Given the description of an element on the screen output the (x, y) to click on. 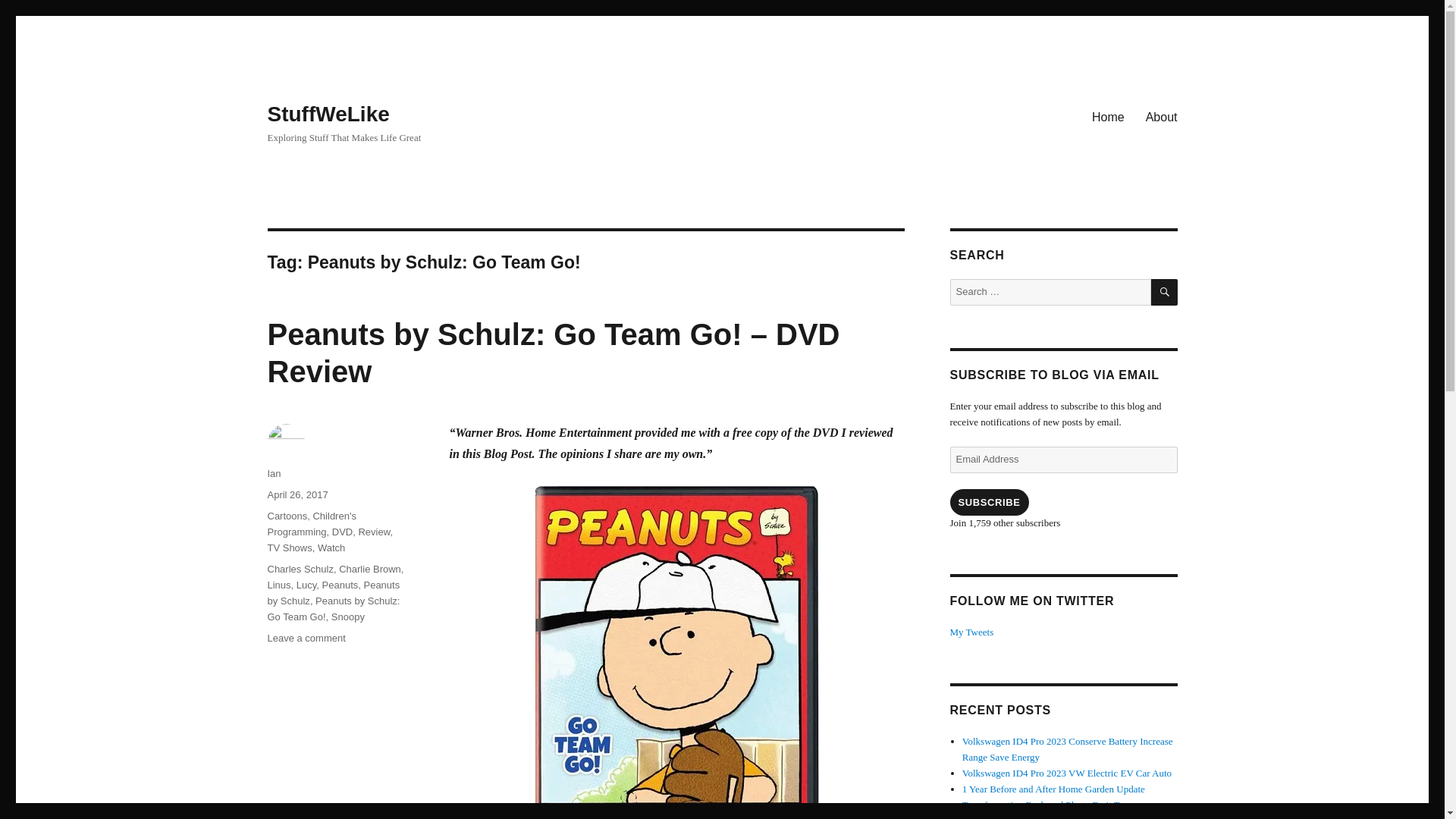
Snoopy (348, 616)
StuffWeLike (327, 114)
Home (1108, 116)
Volkswagen ID4 Pro 2023 VW Electric EV Car Auto (1067, 772)
April 26, 2017 (296, 494)
Linus (277, 584)
DVD (341, 531)
About (1161, 116)
Children's Programming (310, 523)
Lucy (307, 584)
Review (374, 531)
My Tweets (970, 632)
TV Shows (288, 547)
